Given the description of an element on the screen output the (x, y) to click on. 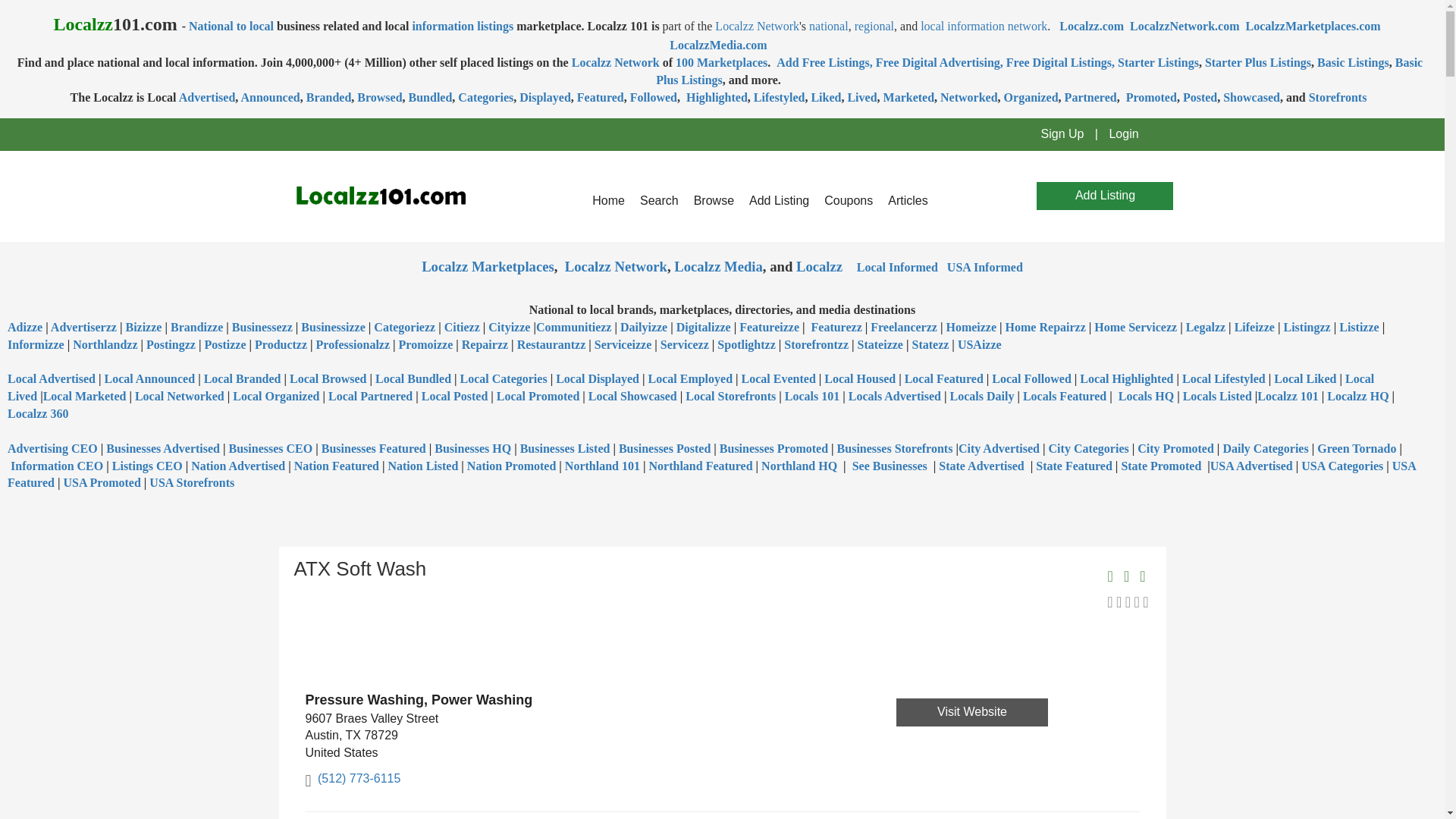
regional (873, 25)
100 Marketplaces (721, 62)
Partnered (1090, 97)
national (828, 25)
LocalzzNetwork.com (1184, 25)
Starter Listings (1158, 62)
Advertised (207, 97)
Announced (269, 97)
Basic Plus Listings (1039, 71)
 Highlighted (715, 97)
Bundled (430, 97)
Lived (861, 97)
information listings (462, 25)
Followed (653, 97)
Displayed (544, 97)
